Given the description of an element on the screen output the (x, y) to click on. 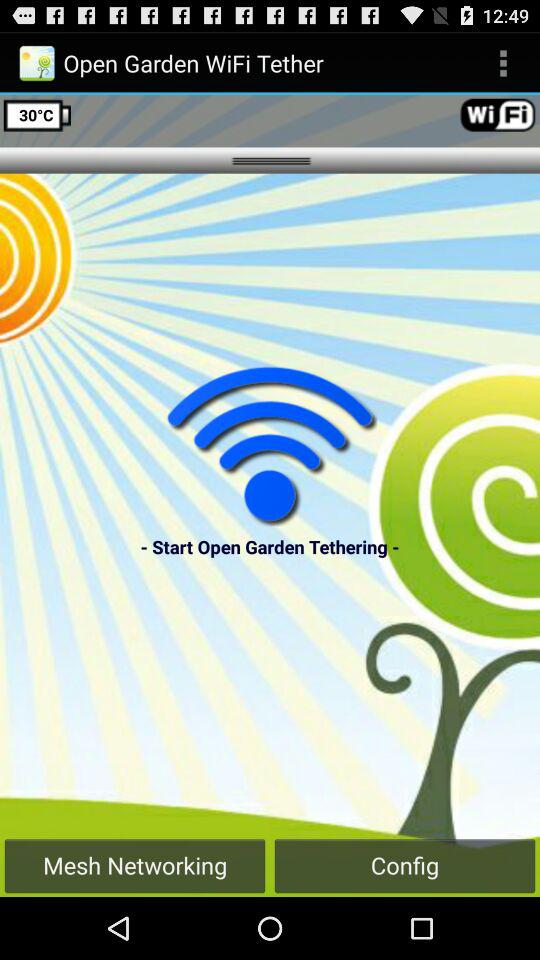
go to wifi button (269, 445)
click on the image at top left (36, 62)
select the text wi fi (498, 113)
go to menu button above wifi (503, 63)
